Given the description of an element on the screen output the (x, y) to click on. 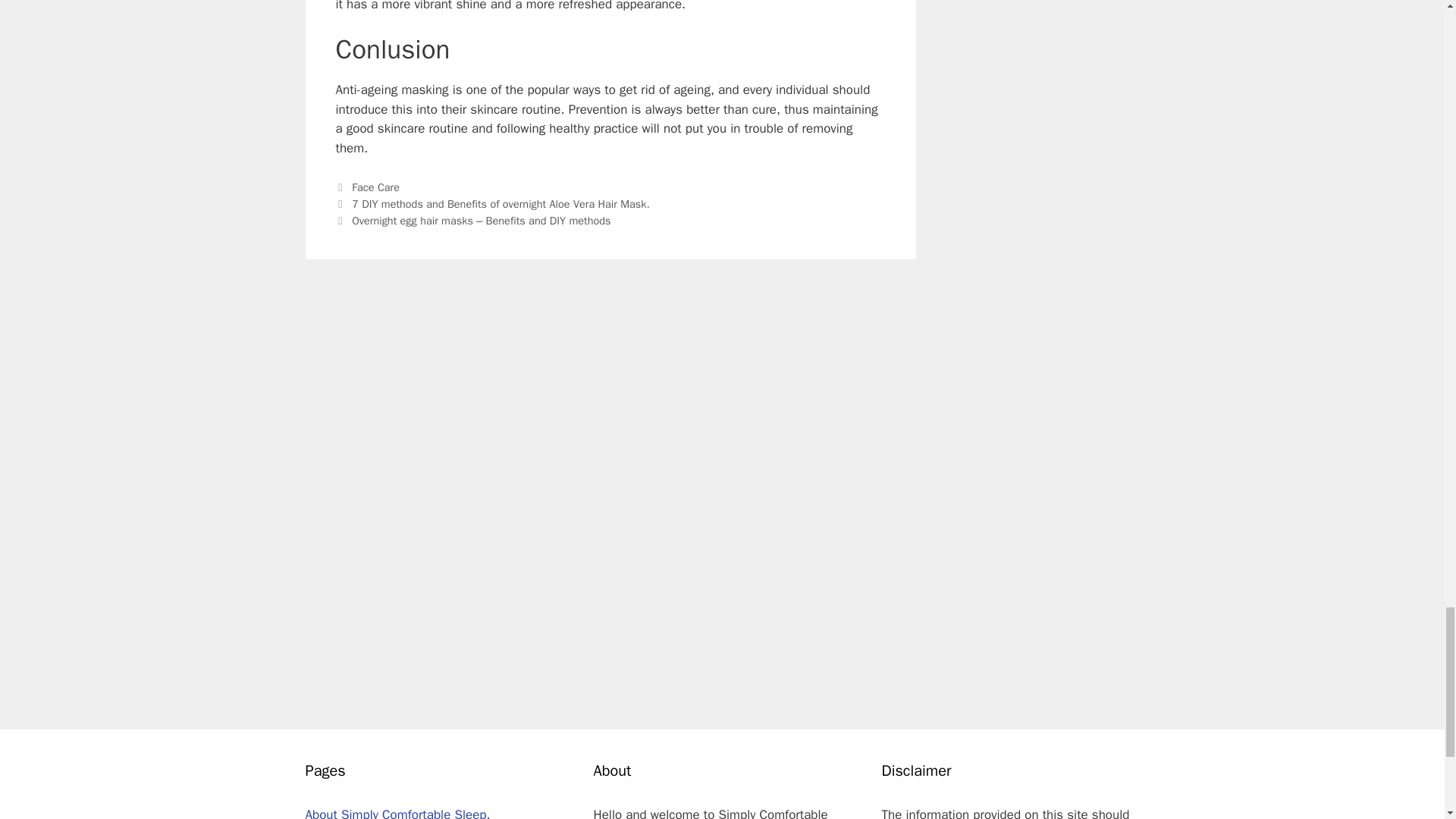
7 DIY methods and Benefits of overnight Aloe Vera Hair Mask. (500, 203)
Face Care (375, 187)
About Simply Comfortable Sleep. (396, 812)
